Given the description of an element on the screen output the (x, y) to click on. 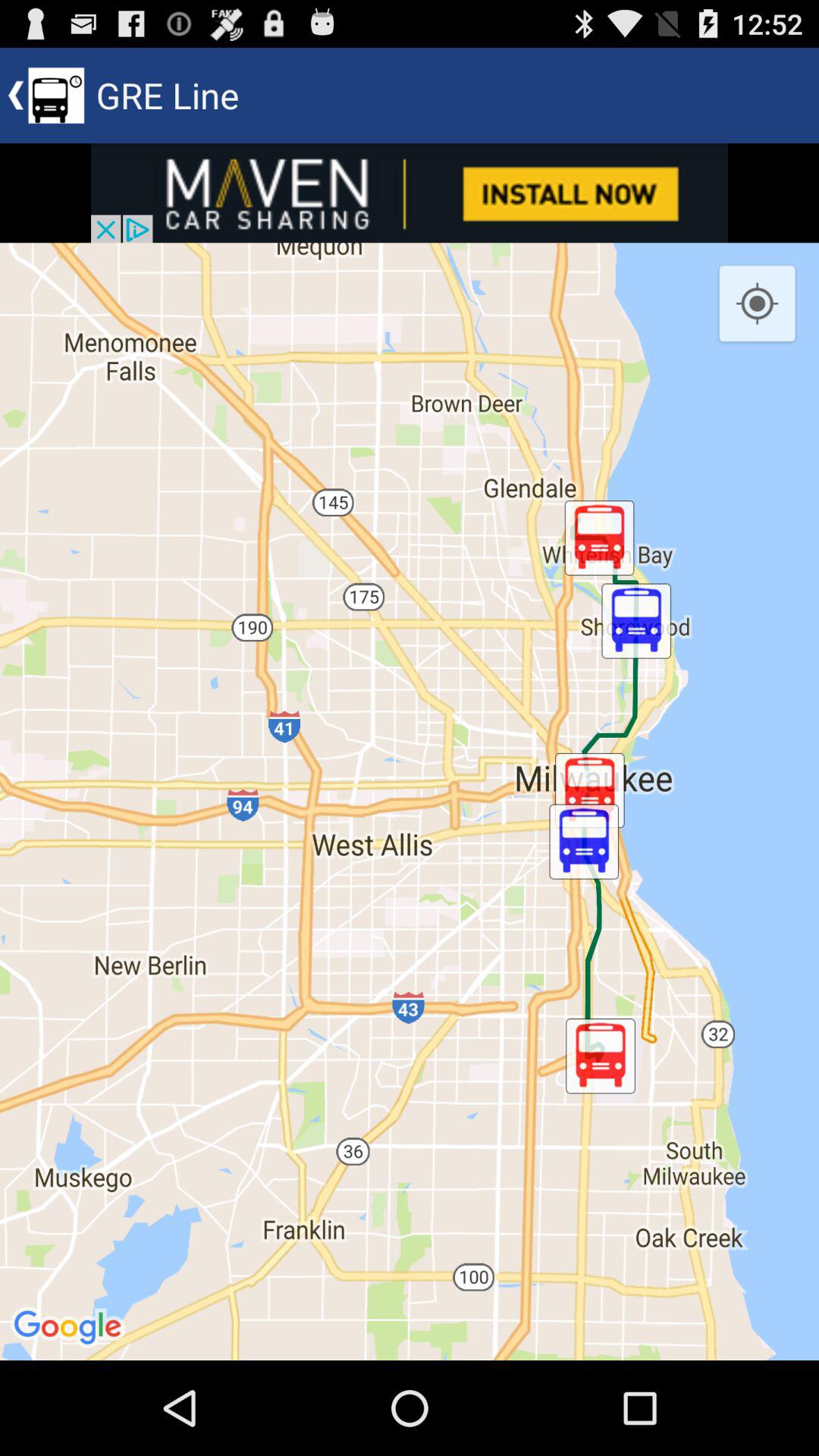
open advertisement to install (409, 192)
